Given the description of an element on the screen output the (x, y) to click on. 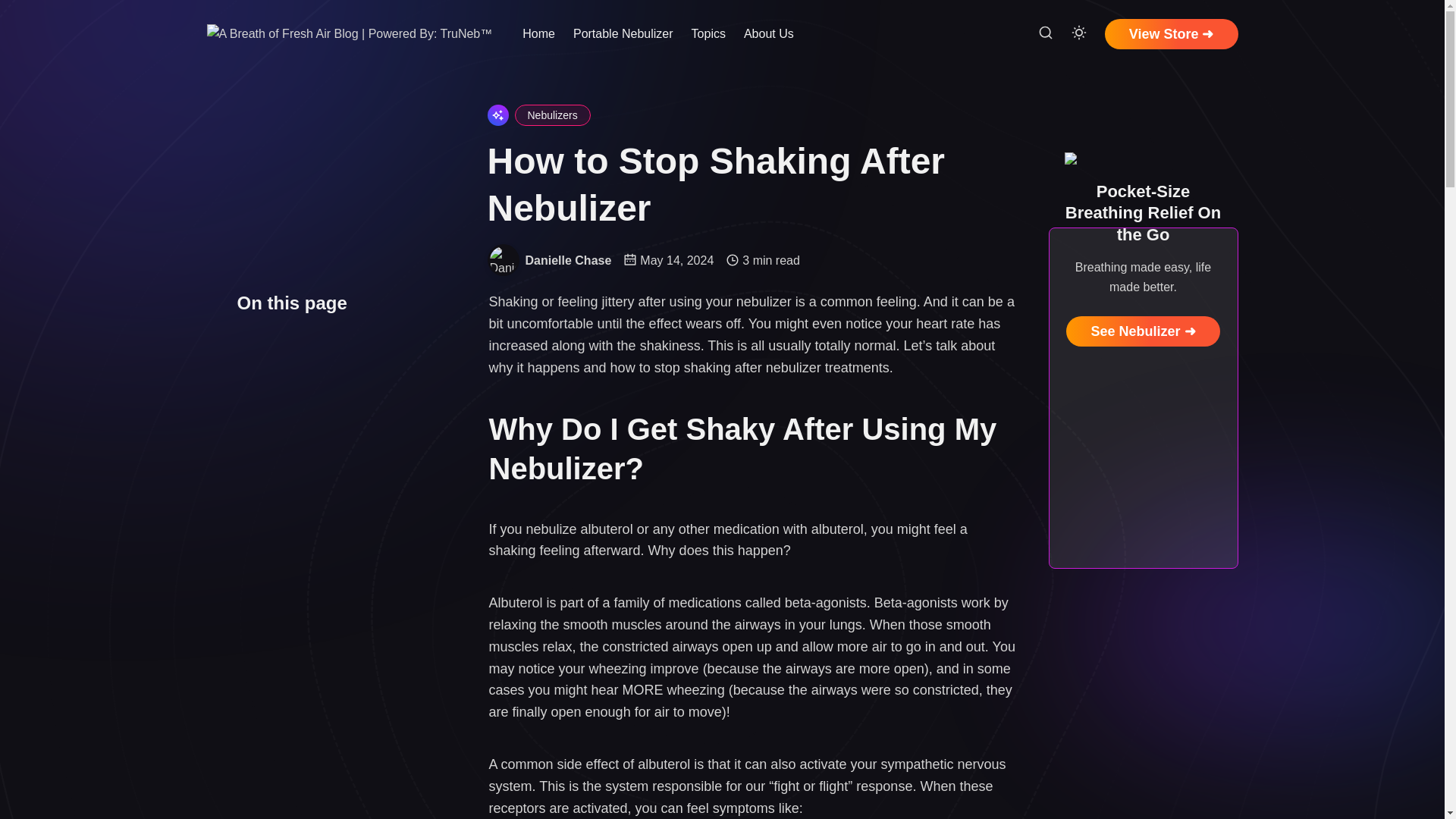
Topics (708, 34)
Home (538, 34)
Nebulizers (551, 115)
Danielle Chase (567, 259)
About Us (768, 34)
Danielle Chase (502, 260)
Portable Nebulizer (622, 34)
